Given the description of an element on the screen output the (x, y) to click on. 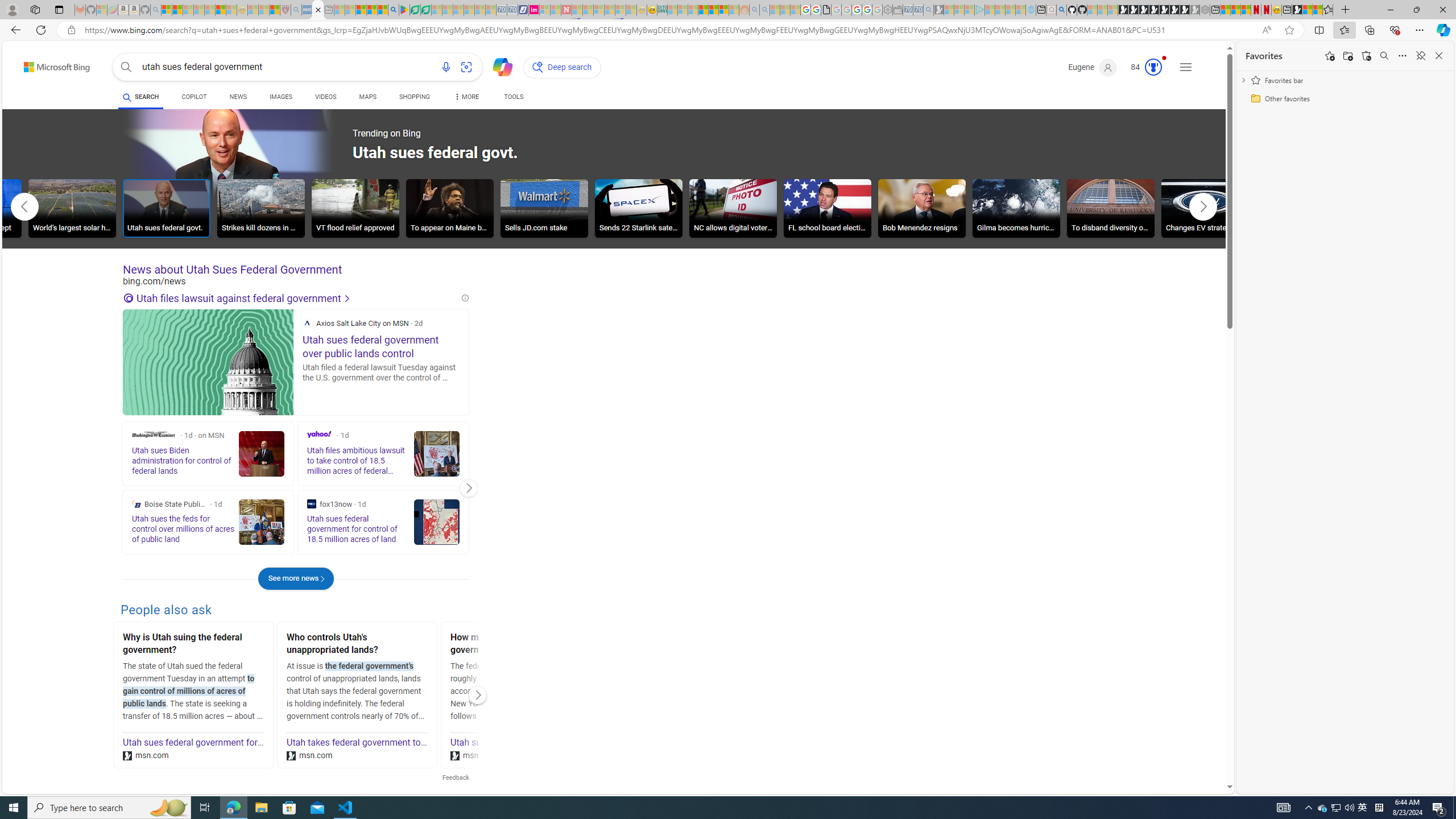
Axios Salt Lake City on MSN (306, 322)
TOOLS (512, 96)
VT flood relief approved (354, 209)
Boise State Public Radio (136, 503)
Sells JD.com stake (544, 207)
